Given the description of an element on the screen output the (x, y) to click on. 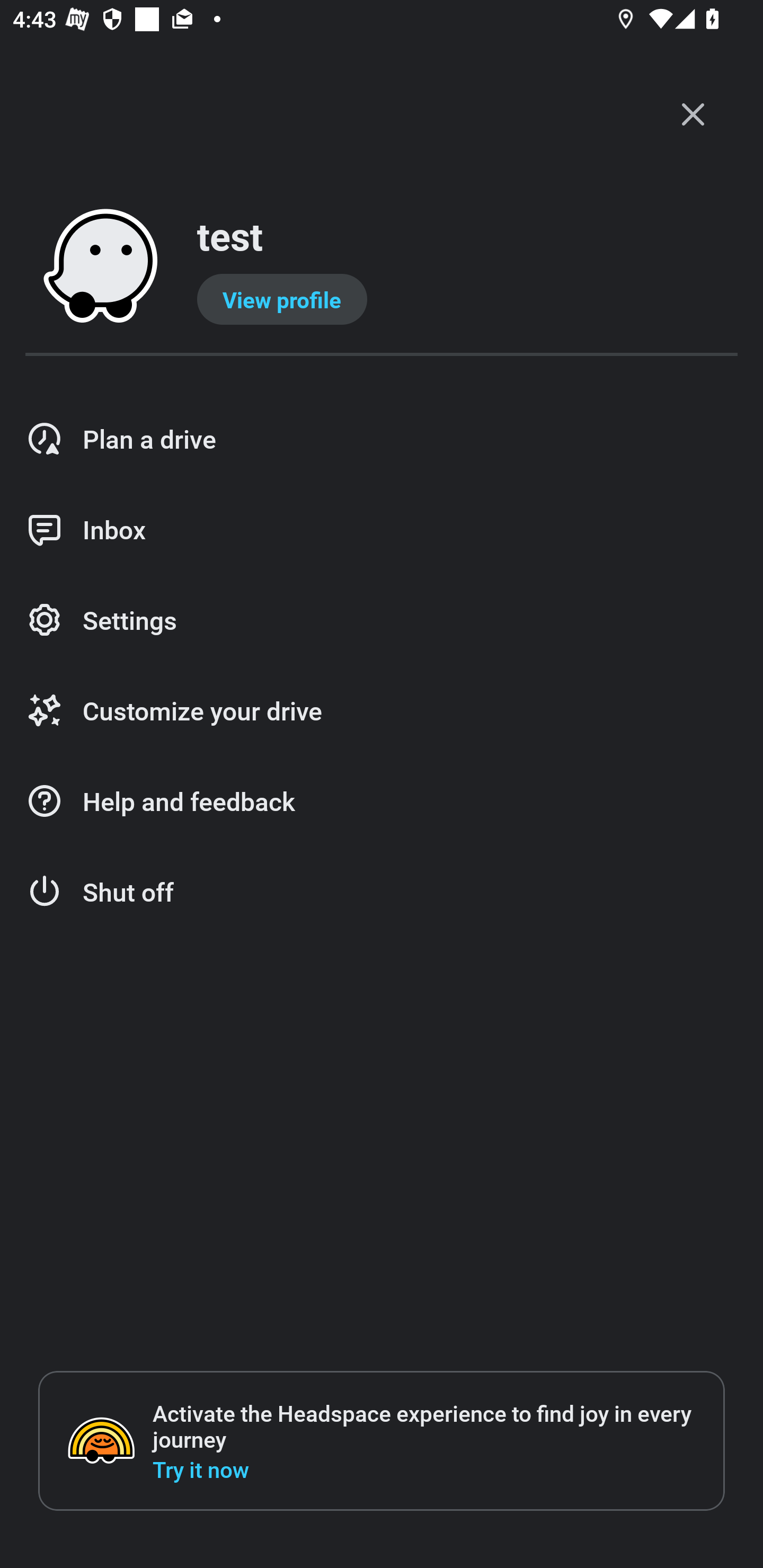
test View profile (381, 266)
View profile (281, 299)
ACTION_CELL_ICON Plan a drive ACTION_CELL_TEXT (381, 438)
ACTION_CELL_ICON Inbox ACTION_CELL_TEXT (381, 529)
ACTION_CELL_ICON Settings ACTION_CELL_TEXT (381, 620)
ACTION_CELL_ICON Shut off ACTION_CELL_TEXT (381, 891)
